Given the description of an element on the screen output the (x, y) to click on. 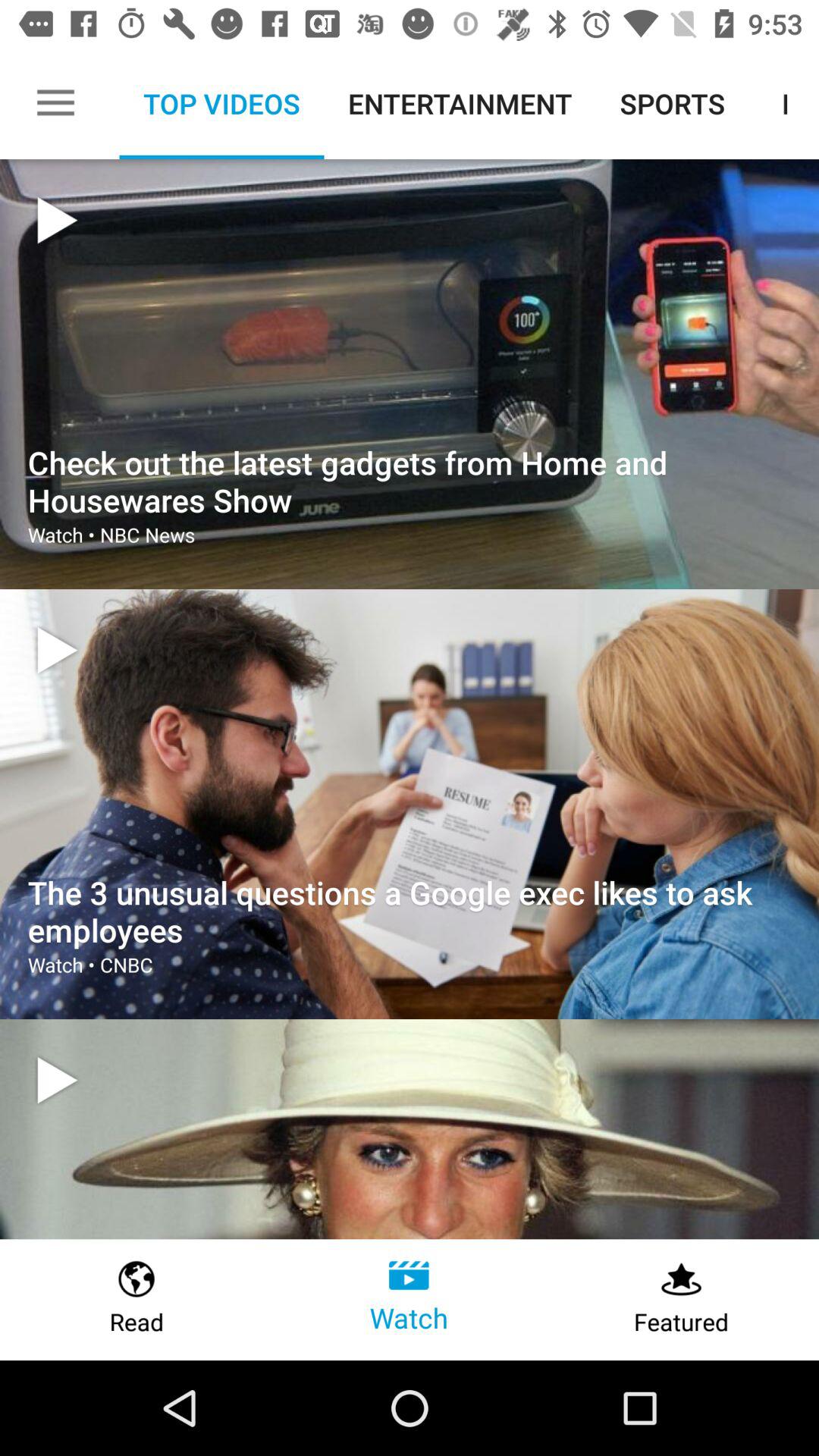
launch the icon next to top videos (55, 103)
